Given the description of an element on the screen output the (x, y) to click on. 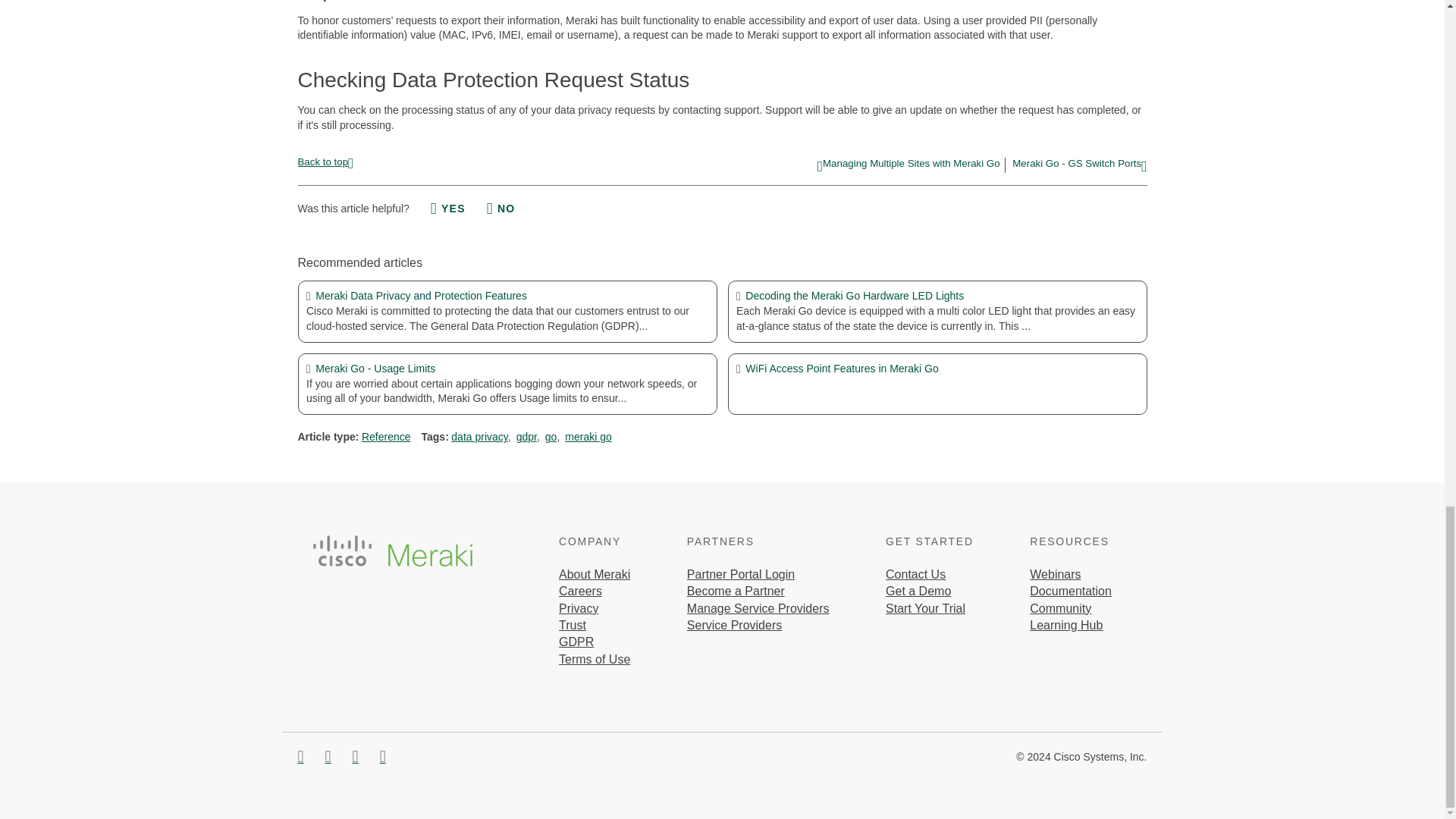
Managing Multiple Sites with Meraki Go (908, 165)
Meraki Go - Usage Limits (506, 368)
Meraki Go - GS Switch Ports (1079, 165)
Jump back to top of this article (325, 160)
Reference (385, 436)
NO (500, 208)
Meraki Go - GS Switch Ports (1079, 165)
Meraki Data Privacy and Protection Features (506, 296)
Meraki Go - Usage Limits (506, 368)
WiFi Access Point Features in Meraki Go (937, 368)
YES (447, 208)
Back to top (325, 160)
Meraki Data Privacy and Protection Features (506, 296)
Decoding the Meraki Go Hardware LED Lights (937, 296)
Decoding the Meraki Go Hardware LED Lights (937, 296)
